Given the description of an element on the screen output the (x, y) to click on. 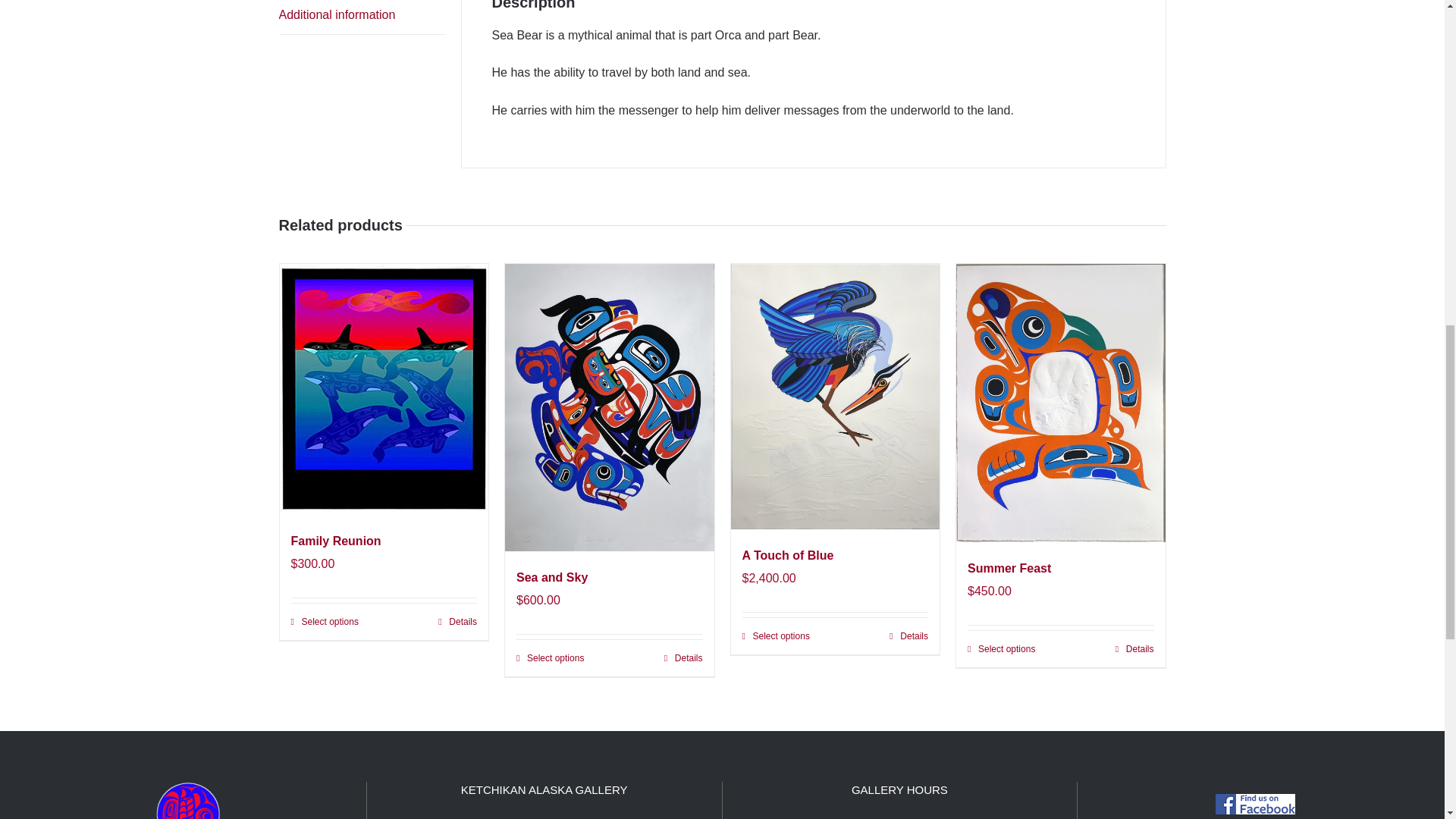
Select options (324, 621)
Family Reunion (336, 540)
Additional information (362, 17)
